Given the description of an element on the screen output the (x, y) to click on. 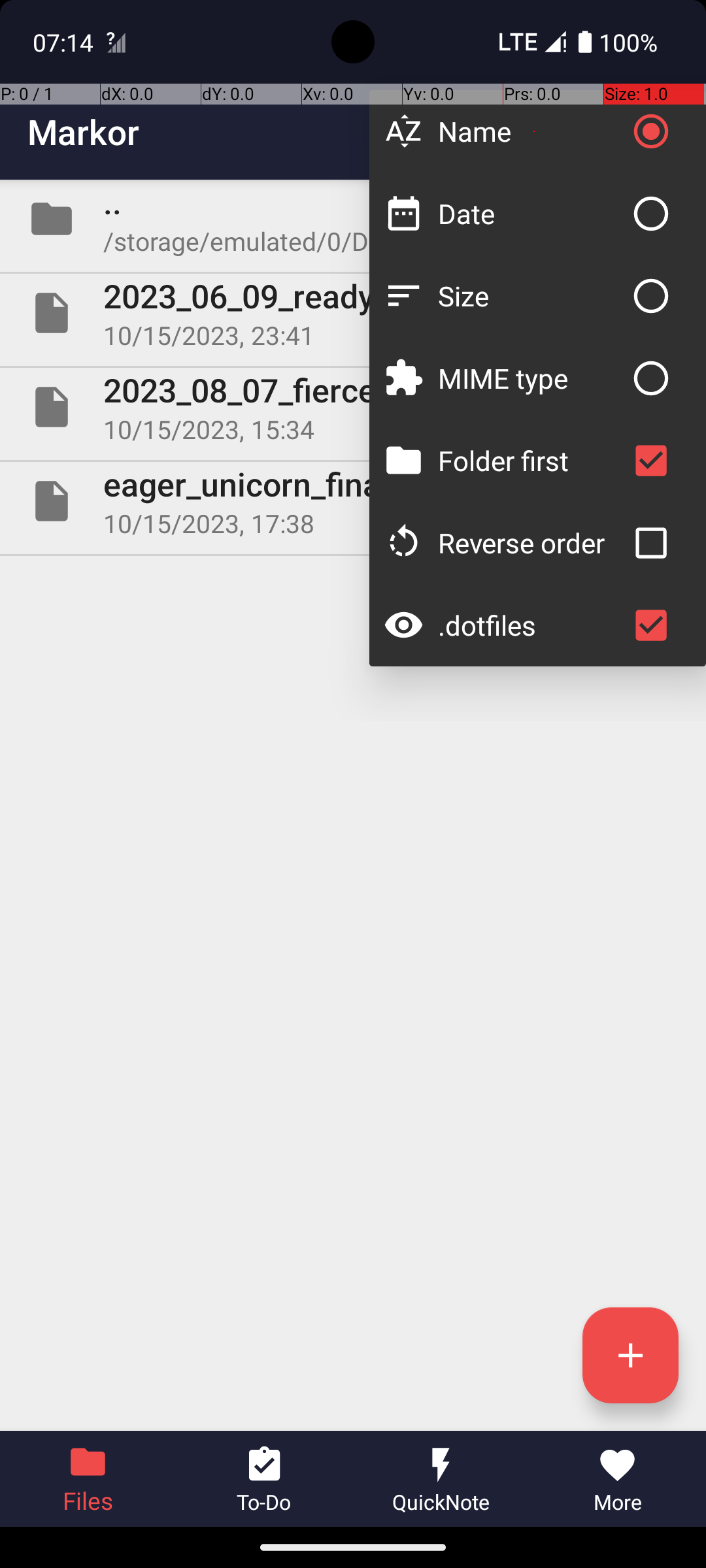
07:14 Element type: android.widget.TextView (64, 41)
